Given the description of an element on the screen output the (x, y) to click on. 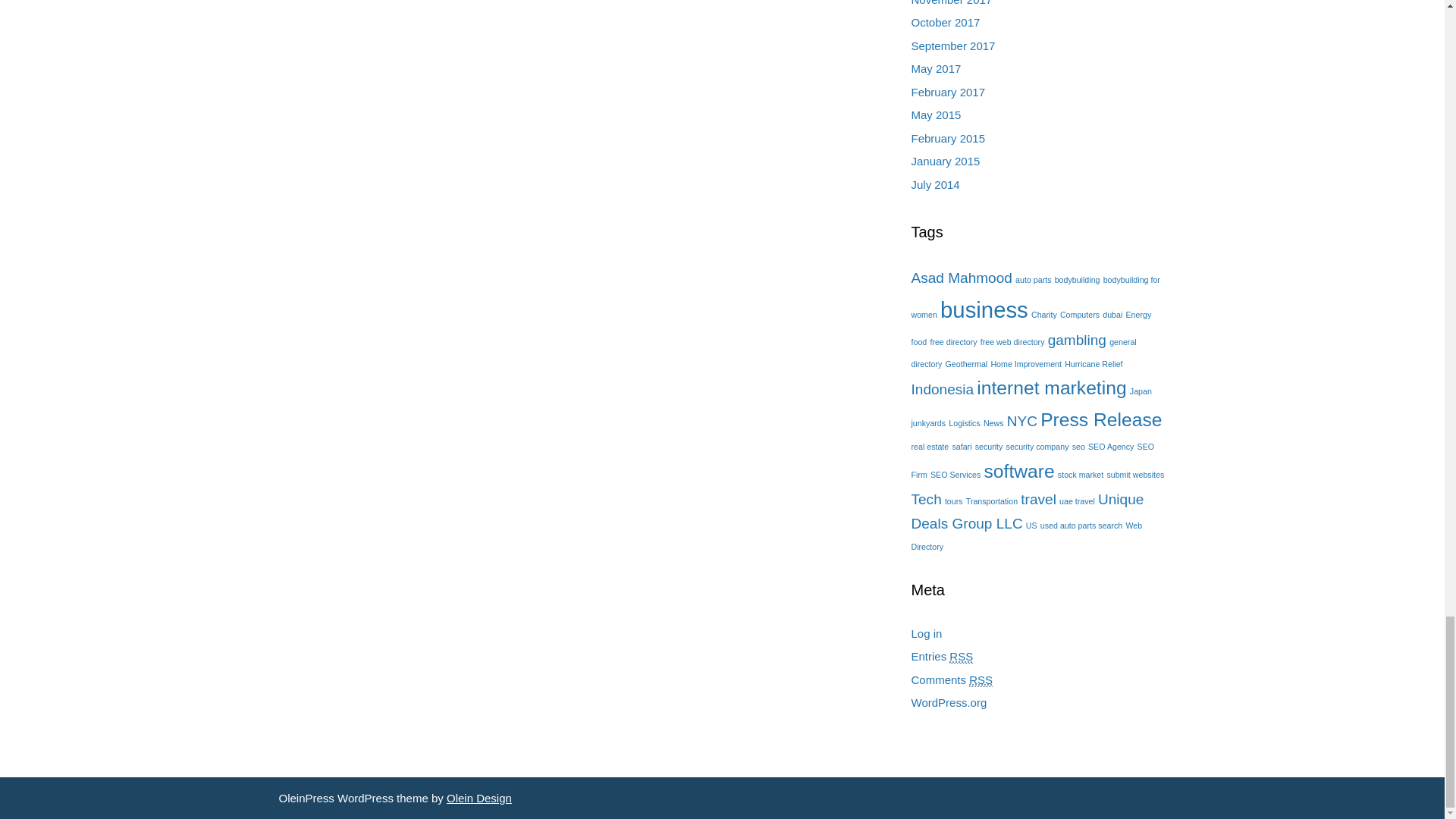
Really Simple Syndication (980, 680)
Really Simple Syndication (960, 656)
